Given the description of an element on the screen output the (x, y) to click on. 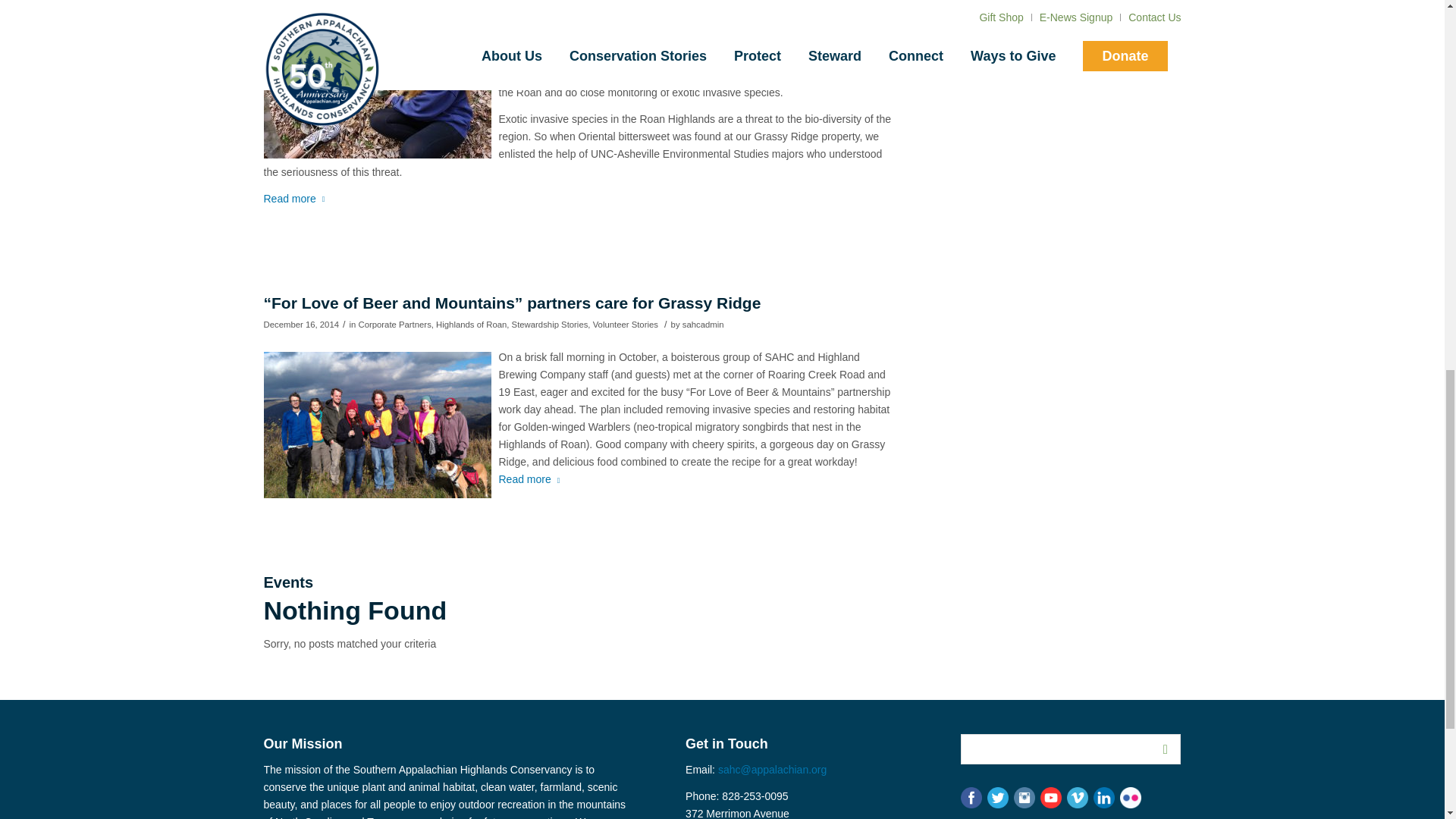
Posts by sahcadmin (702, 324)
